Given the description of an element on the screen output the (x, y) to click on. 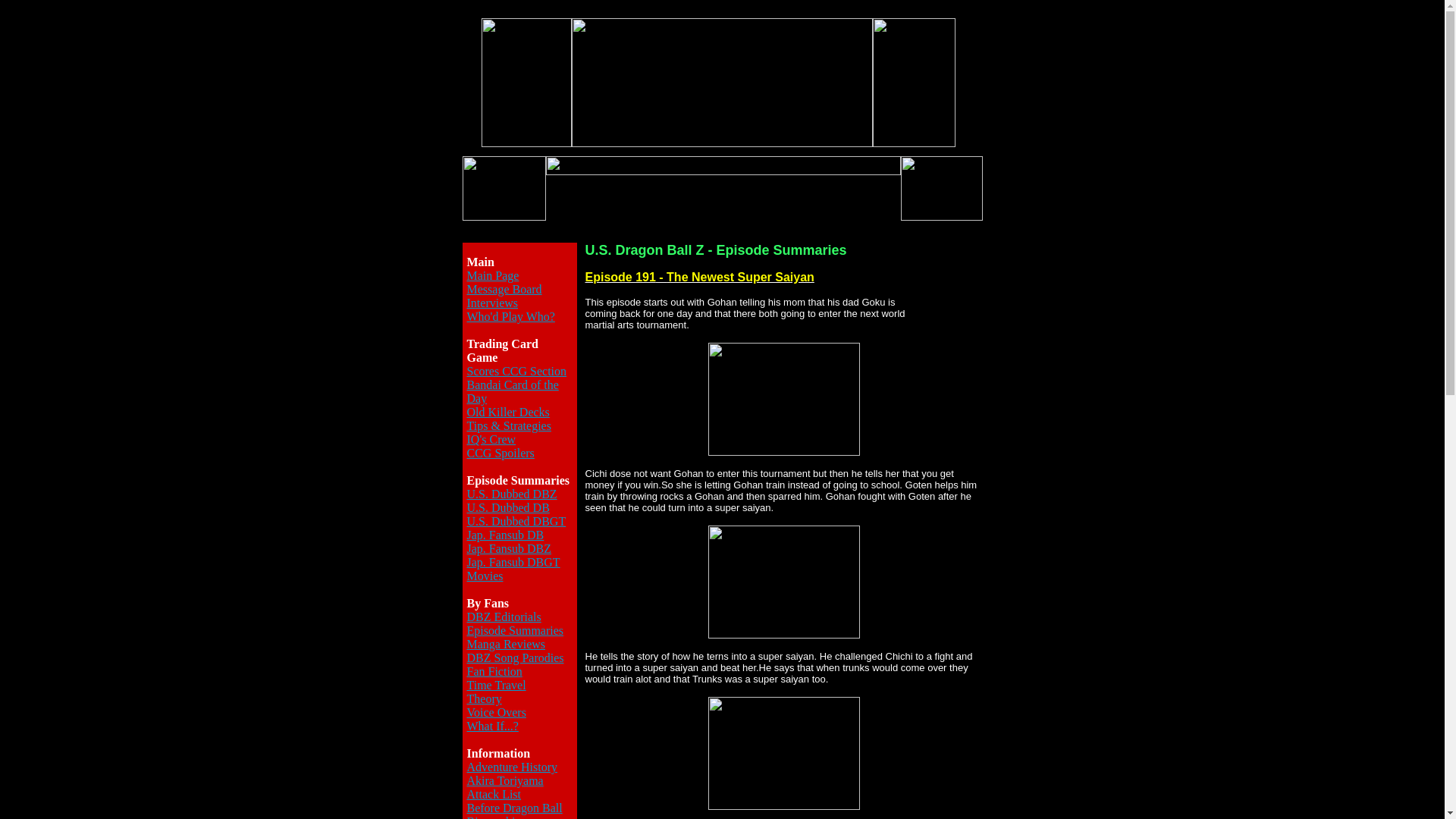
Adventure History (512, 766)
CCG Spoilers (500, 452)
Manga Reviews (506, 644)
Jap. Fansub DBZ (509, 548)
U.S. Dubbed DBGT (516, 521)
Jap. Fansub DB (505, 534)
U.S. Dubbed DB (508, 507)
U.S. Dubbed DBZ (512, 493)
Interviews (492, 302)
DBZ Song Parodies (515, 657)
Episode Summaries (515, 630)
Time Travel (496, 684)
Jap. Fansub DBGT (513, 562)
Main Page (493, 275)
Movies (485, 575)
